Given the description of an element on the screen output the (x, y) to click on. 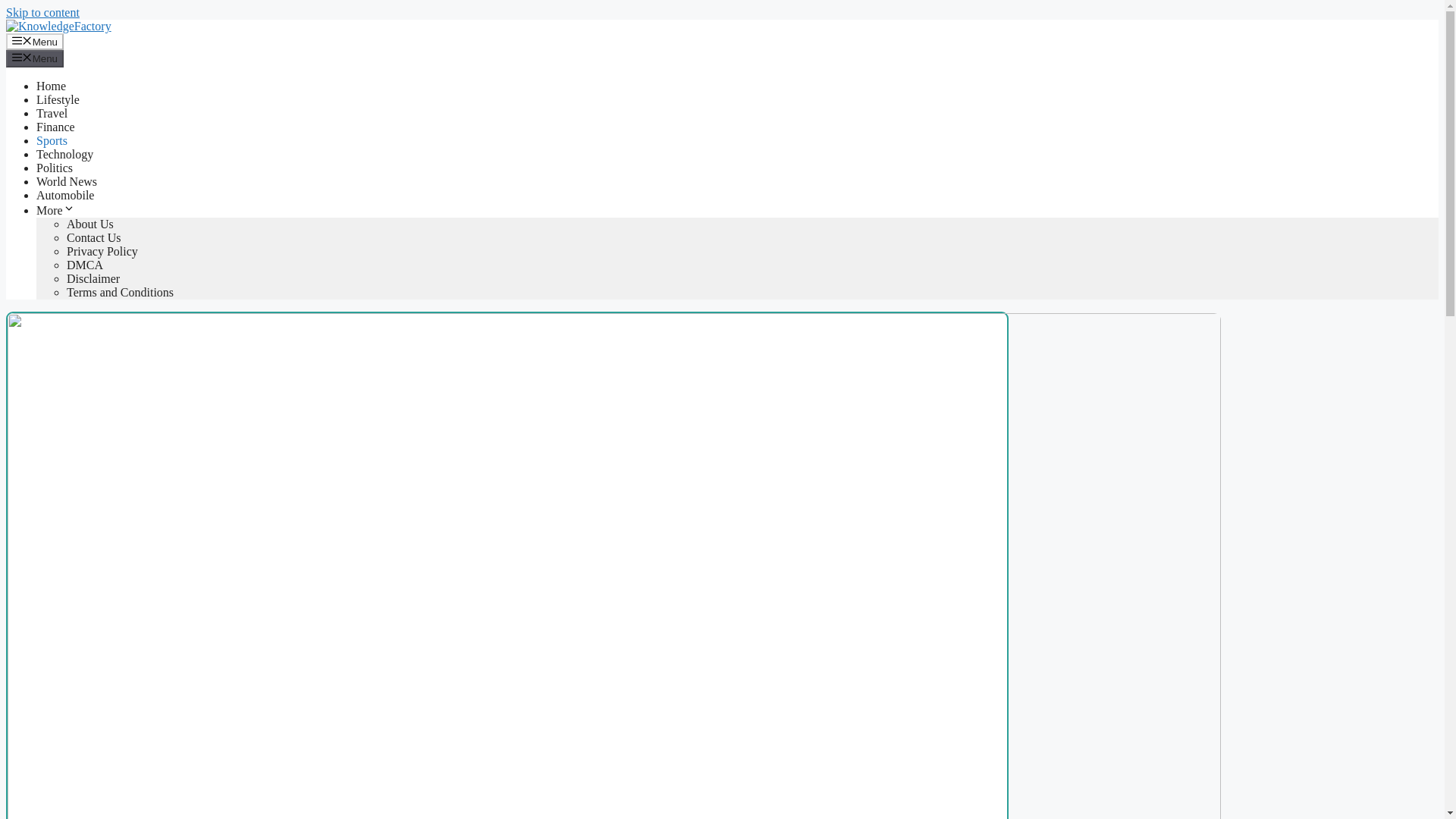
Politics (54, 167)
Skip to content (42, 11)
Menu (34, 57)
Technology (64, 154)
Menu (34, 41)
Privacy Policy (102, 250)
About Us (89, 223)
Automobile (65, 195)
Finance (55, 126)
Terms and Conditions (119, 291)
